Given the description of an element on the screen output the (x, y) to click on. 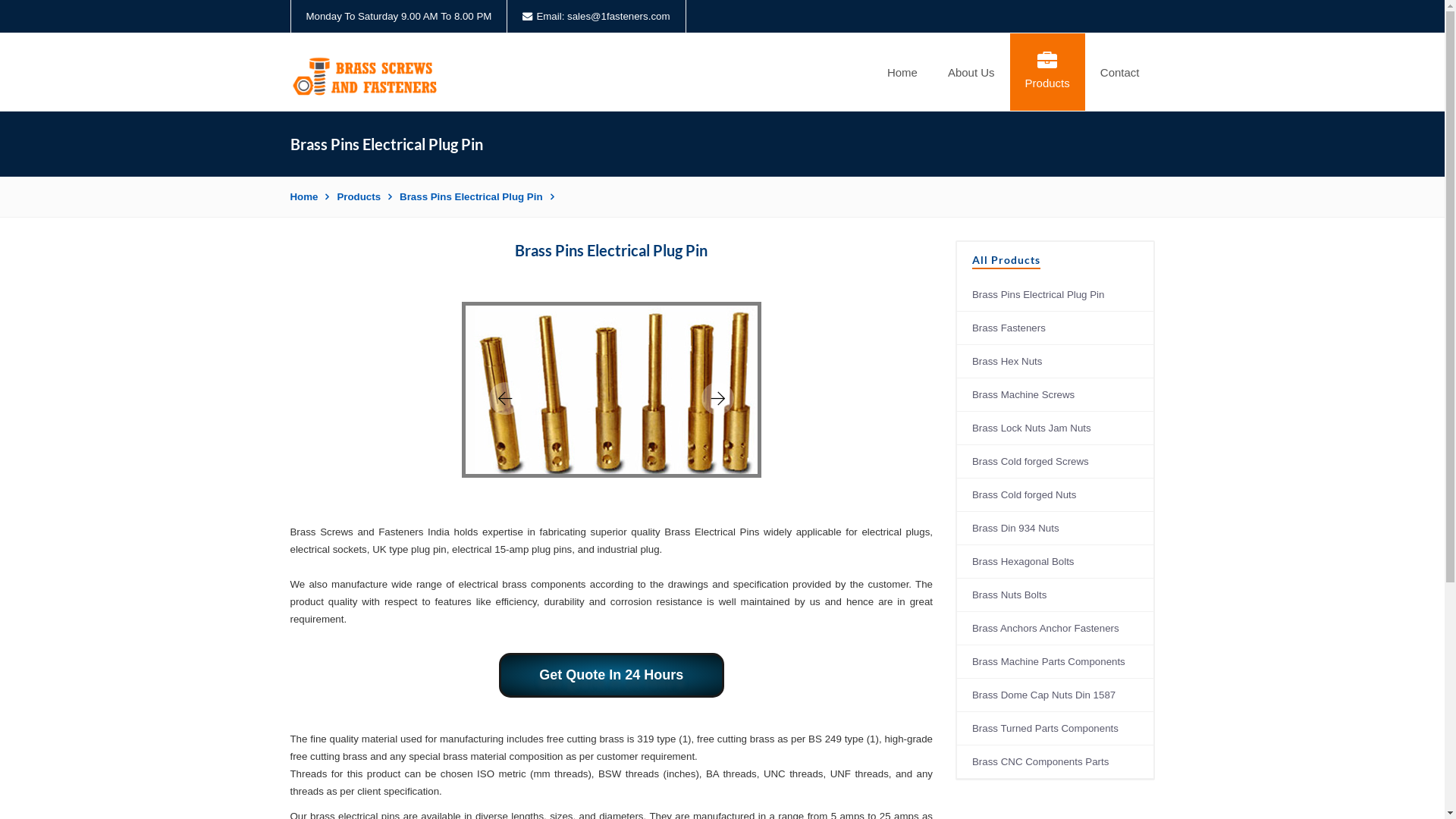
Products Element type: text (1047, 71)
Brass Cold forged Screws Element type: text (1055, 461)
Brass Machine Screws Element type: text (1055, 394)
Brass Lock Nuts Jam Nuts Element type: text (1055, 428)
Brass CNC Components Parts Element type: text (1055, 761)
Brass Machine Parts Components Element type: text (1055, 661)
Contact Element type: text (1119, 71)
Brass Cold forged Nuts Element type: text (1055, 494)
Brass Hexagonal Bolts Element type: text (1055, 561)
Brass Dome Cap Nuts Din 1587 Element type: text (1055, 695)
Brass Nuts Bolts Element type: text (1055, 594)
Brass Din 934 Nuts Element type: text (1055, 528)
Home Element type: text (902, 71)
Home Element type: text (309, 196)
Products Element type: text (364, 196)
sales@1fasteners.com Element type: text (618, 15)
About Us Element type: text (971, 71)
Brass Pins Electrical Plug Pin Element type: text (476, 196)
Brass Turned Parts Components Element type: text (1055, 728)
Brass Pins Electrical Plug Pin Element type: text (1055, 294)
Brass Anchors Anchor Fasteners Element type: text (1055, 628)
Get Quote In 24 Hours Element type: text (611, 674)
Brass Fasteners Element type: text (1055, 328)
Brass Hex Nuts Element type: text (1055, 361)
